Given the description of an element on the screen output the (x, y) to click on. 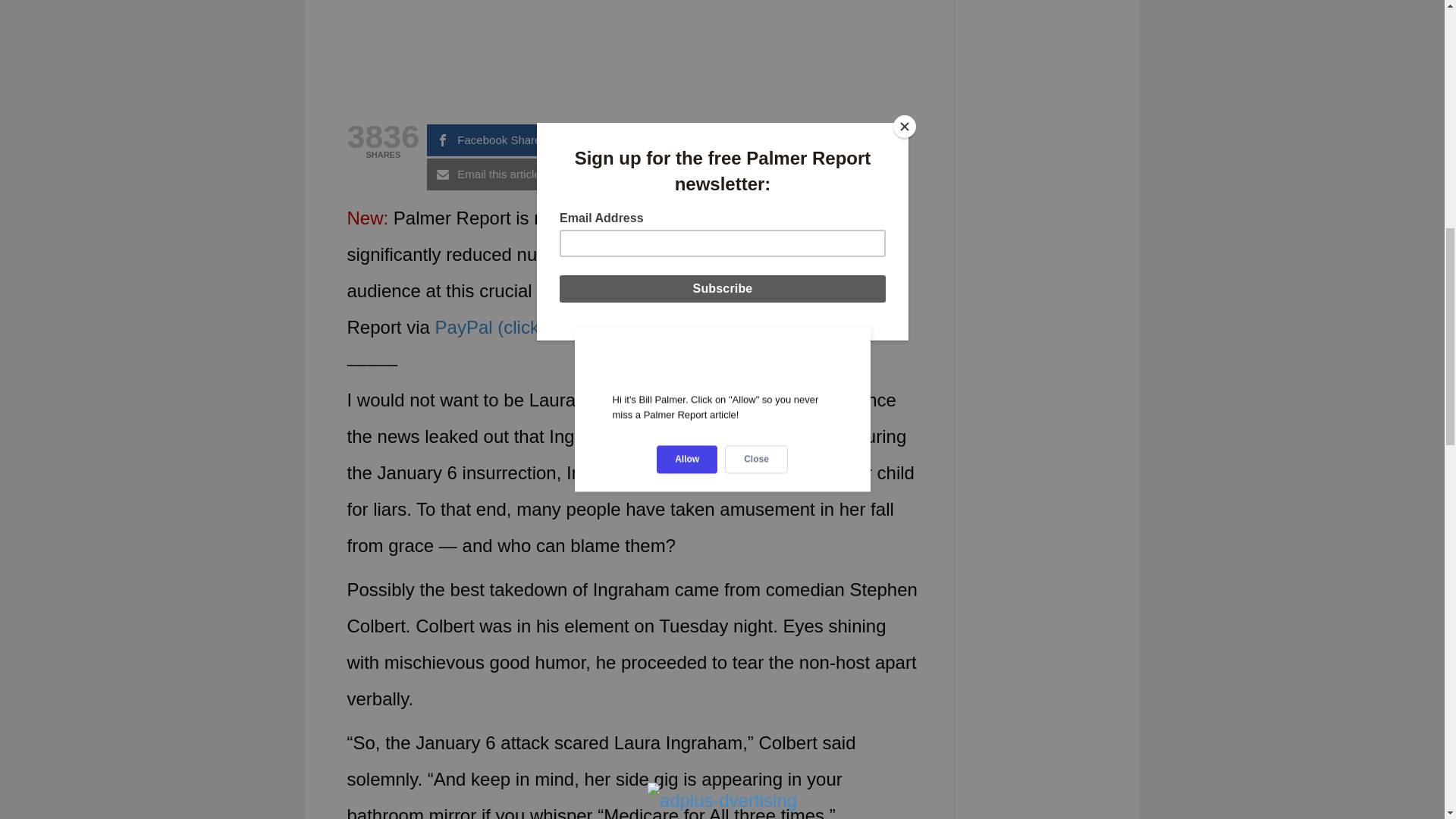
Reddit Share (767, 140)
X Share (630, 140)
Email this article (493, 174)
LinkedIn Share (767, 174)
Facebook Share (493, 140)
Print Article (630, 174)
